Given the description of an element on the screen output the (x, y) to click on. 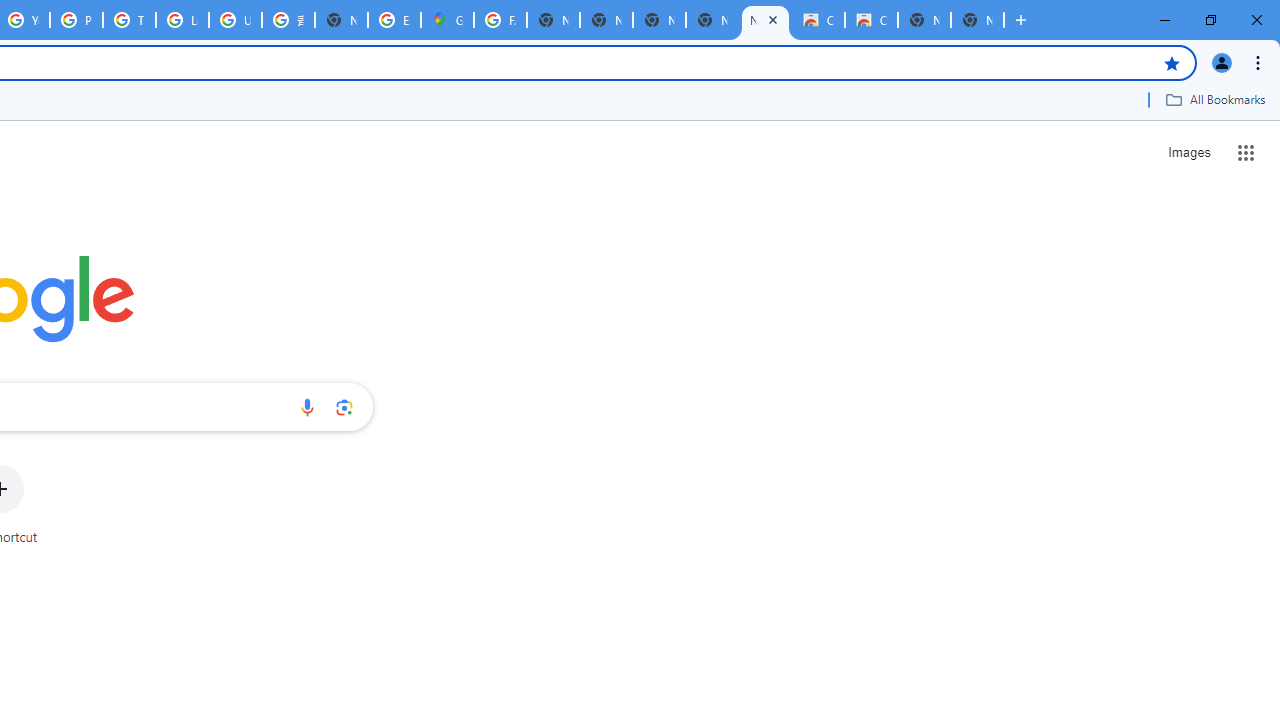
New Tab (977, 20)
Classic Blue - Chrome Web Store (818, 20)
Tips & tricks for Chrome - Google Chrome Help (129, 20)
Google Maps (447, 20)
New Tab (341, 20)
